Given the description of an element on the screen output the (x, y) to click on. 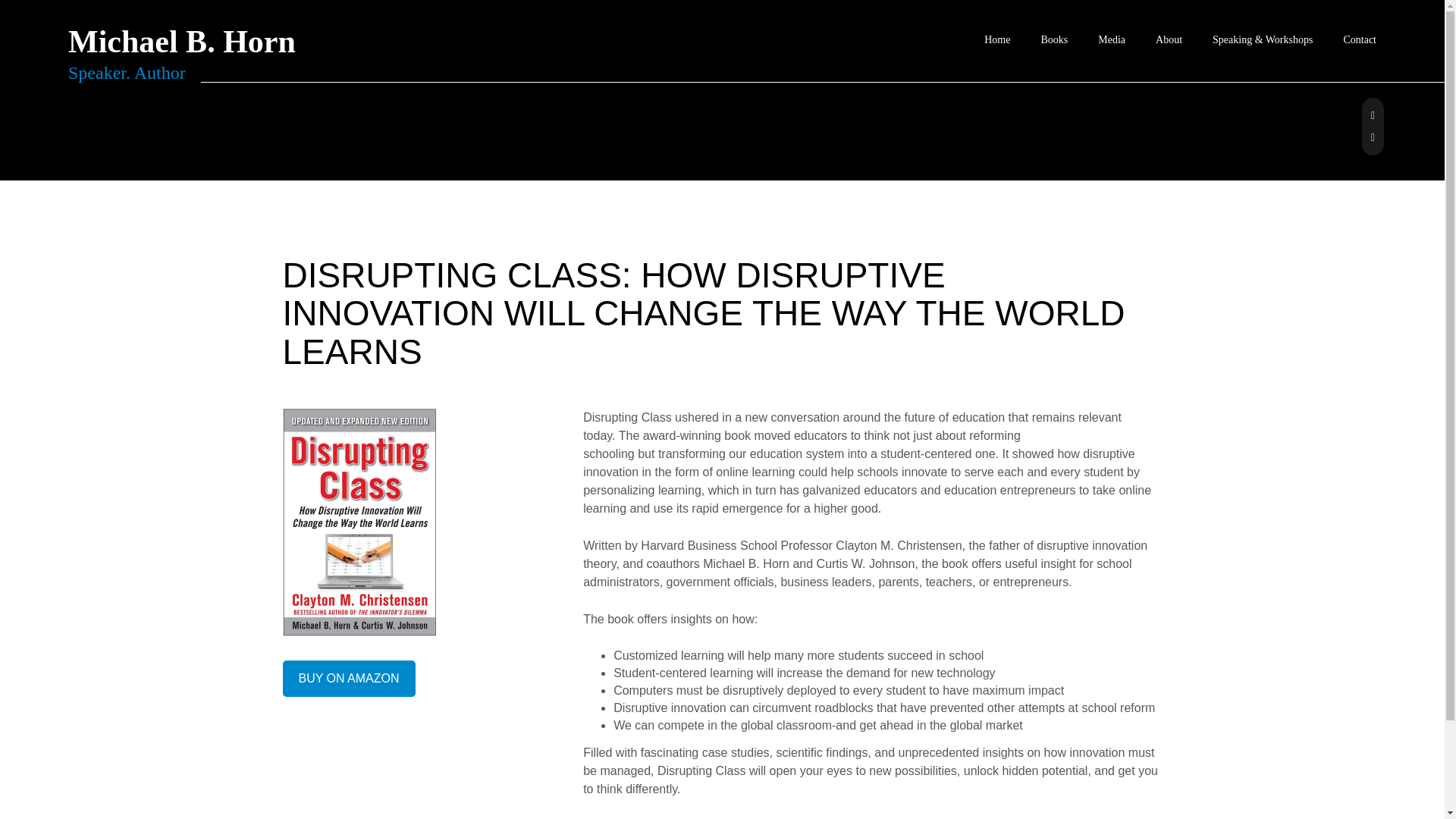
Michael B. Horn (181, 44)
BUY ON AMAZON (348, 678)
Contact (1358, 41)
Contact (1358, 41)
